Given the description of an element on the screen output the (x, y) to click on. 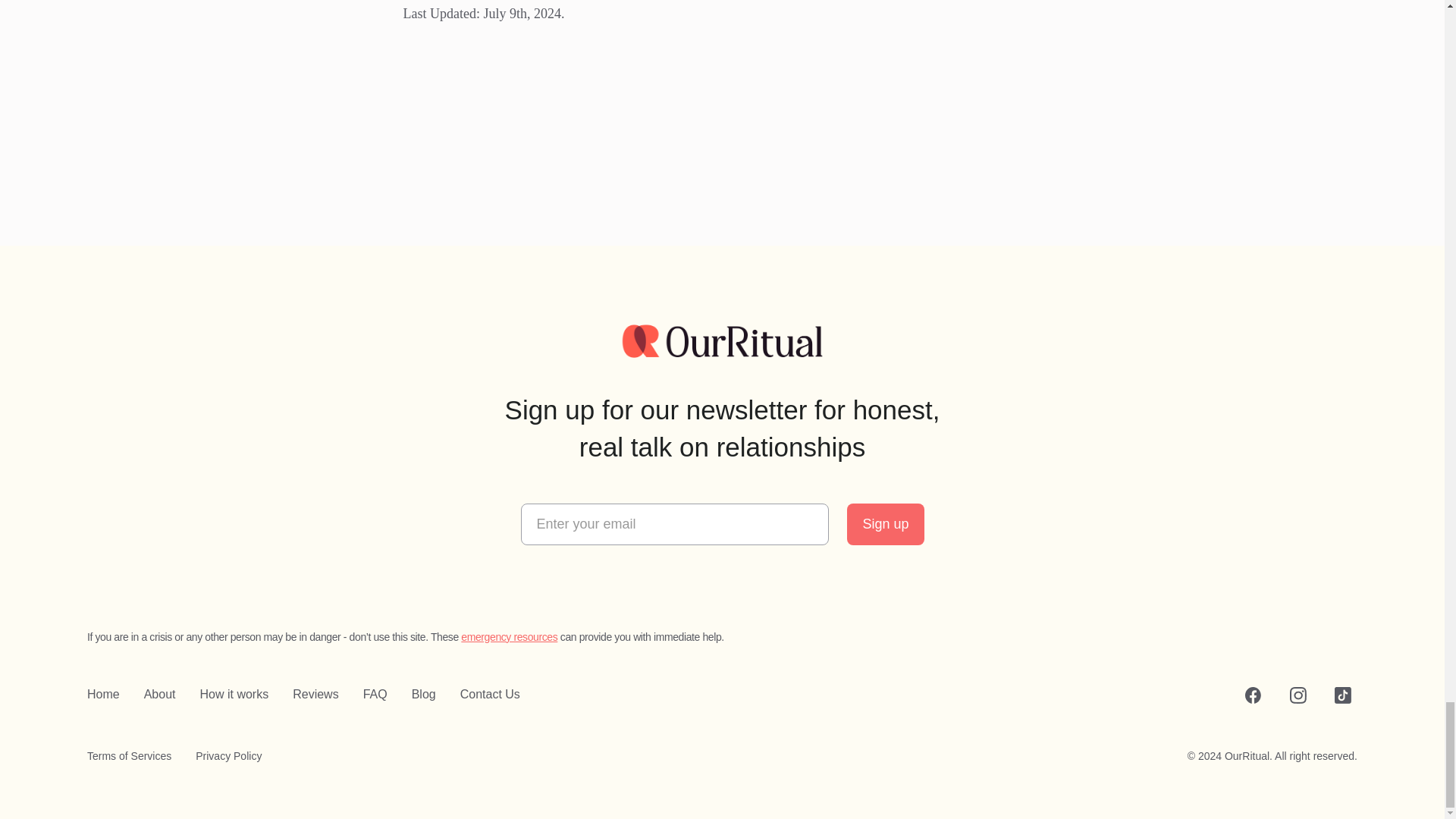
Privacy Policy (228, 755)
How it works (234, 694)
Terms of Services (129, 755)
Sign up (885, 524)
FAQ (374, 694)
emergency resources (509, 636)
Blog (423, 694)
Reviews (314, 694)
About (160, 694)
Sign up (885, 524)
Home (103, 694)
Contact Us (489, 694)
